Given the description of an element on the screen output the (x, y) to click on. 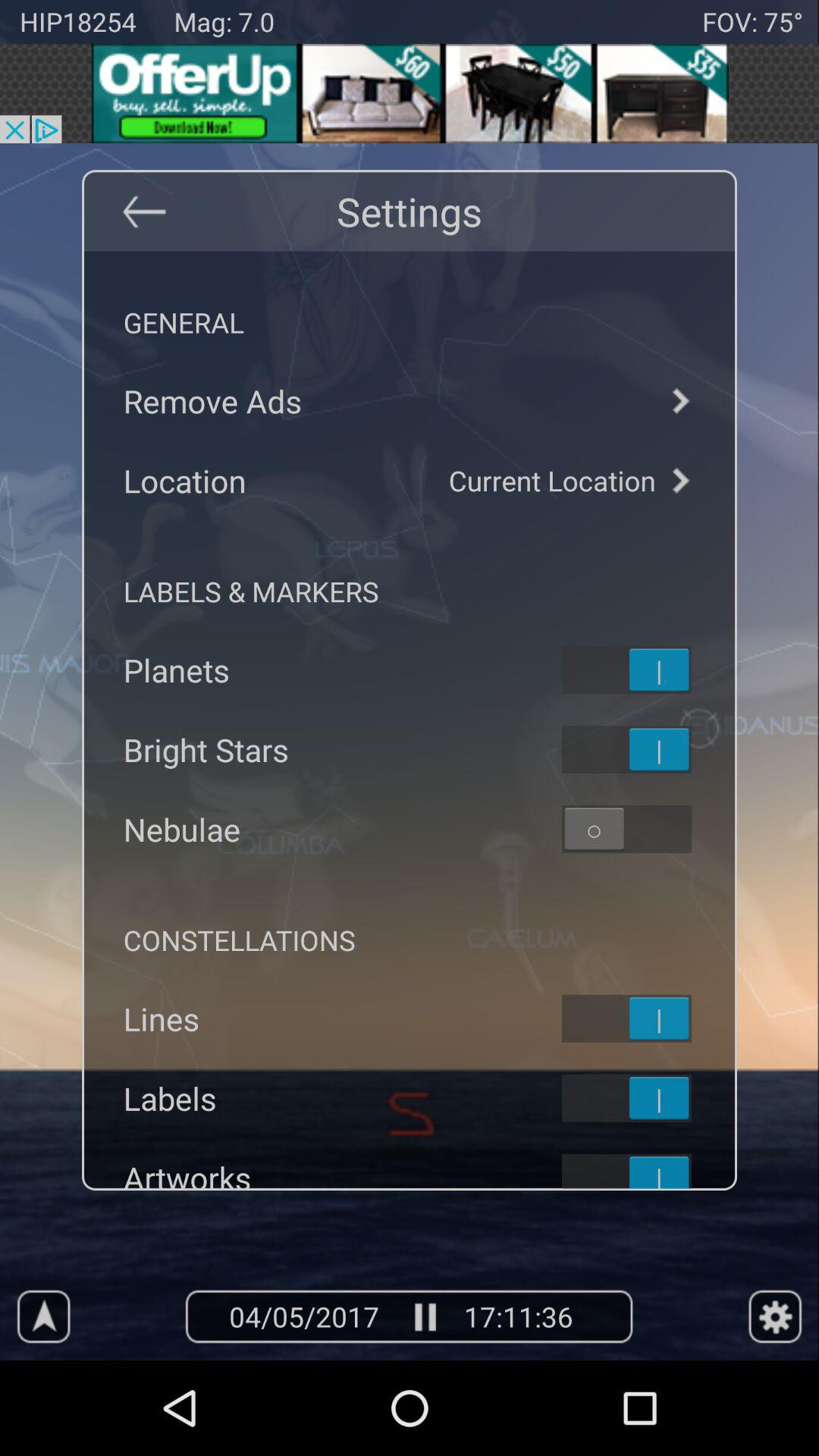
turn off labels (646, 1098)
